Given the description of an element on the screen output the (x, y) to click on. 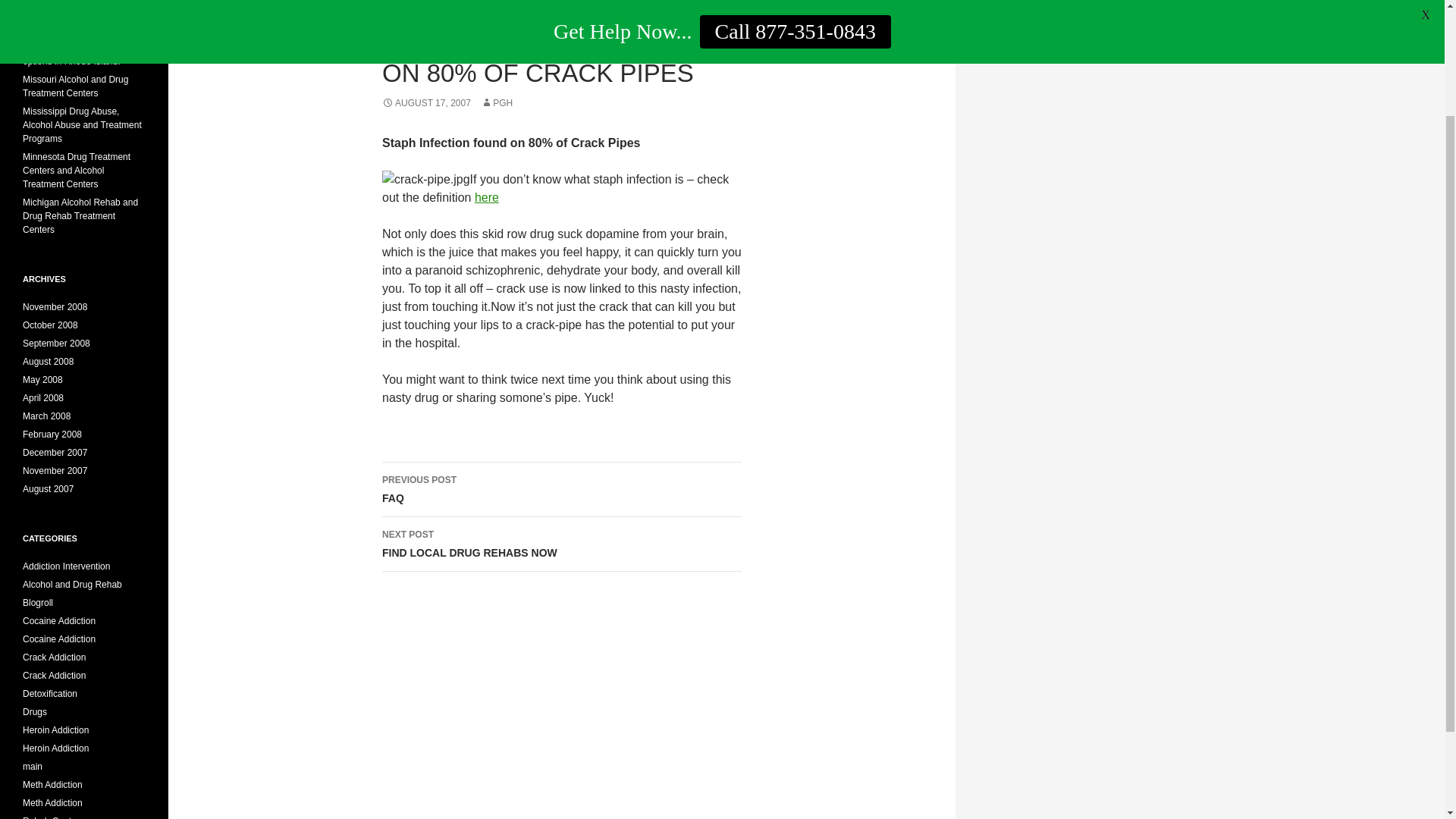
Crack Addiction (54, 675)
December 2007 (55, 452)
Missouri Alcohol and Drug Treatment Centers (75, 86)
February 2008 (52, 434)
Crack Addiction (54, 656)
September 2008 (56, 343)
Cocaine Addiction (561, 543)
Heroin Addiction (59, 638)
Drugs (55, 729)
October 2008 (34, 711)
Blogroll (50, 325)
Drug and alcohol treatment options in Rhode Island: (37, 602)
Addiction Intervention (77, 54)
